Given the description of an element on the screen output the (x, y) to click on. 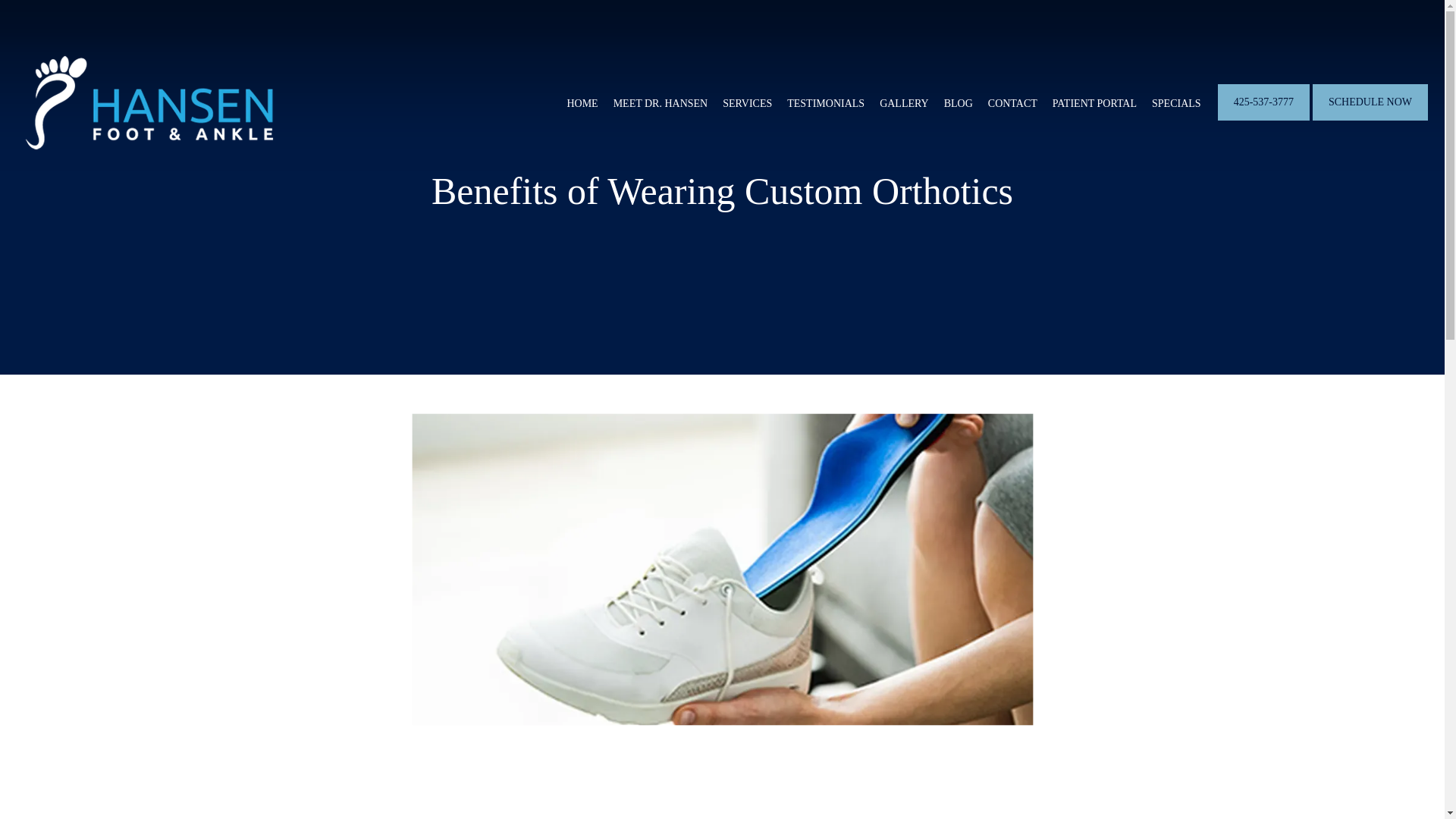
425-537-3777 (1263, 118)
BLOG (957, 102)
SCHEDULE NOW (1370, 118)
GALLERY (903, 102)
SERVICES (746, 102)
TESTIMONIALS (825, 102)
HOME (581, 102)
CONTACT (1012, 102)
MEET DR. HANSEN (659, 102)
PATIENT PORTAL (1094, 102)
